Given the description of an element on the screen output the (x, y) to click on. 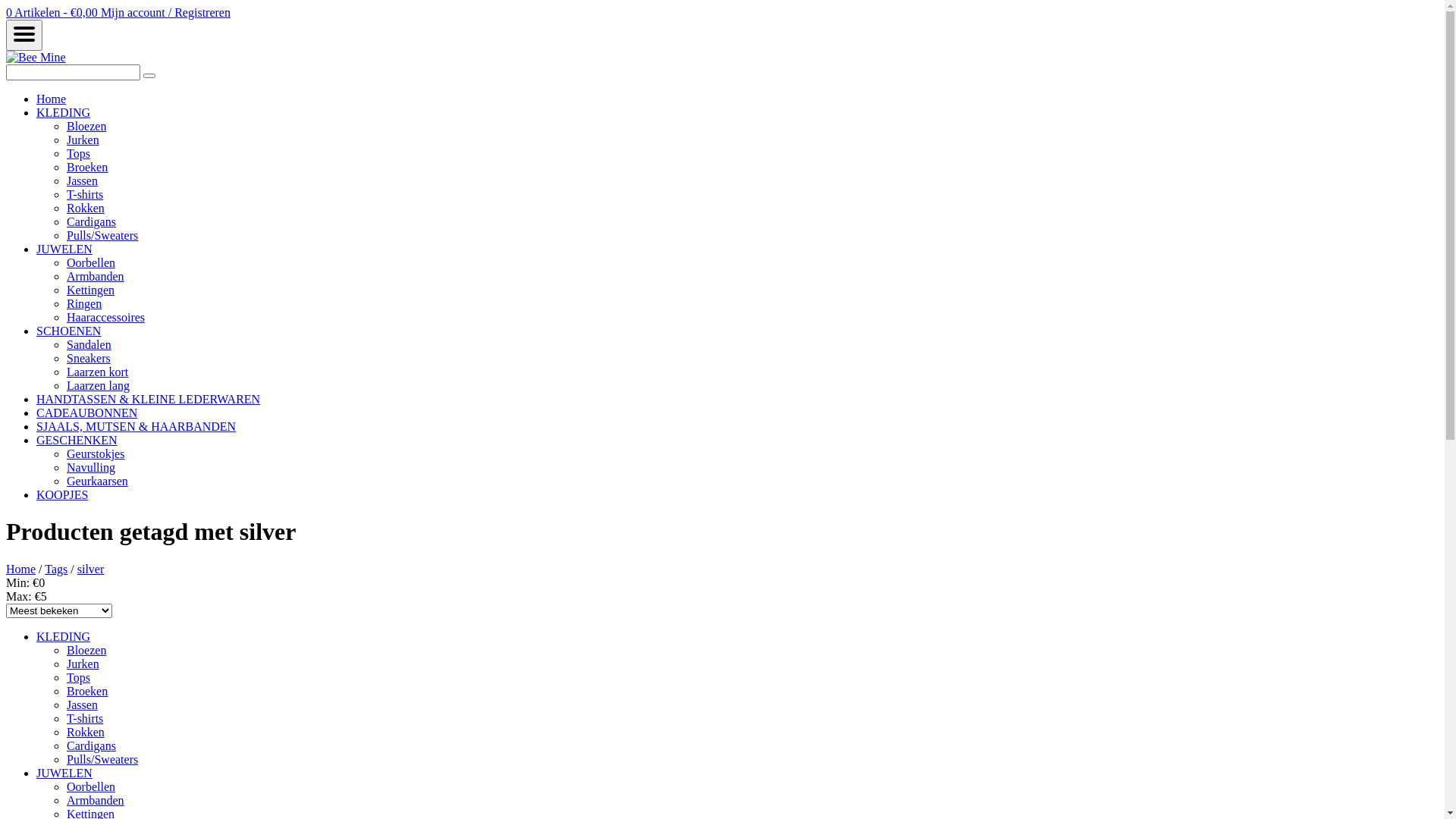
Navulling Element type: text (90, 467)
KLEDING Element type: text (63, 112)
KOOPJES Element type: text (61, 494)
Sandalen Element type: text (88, 344)
Sneakers Element type: text (88, 357)
JUWELEN Element type: text (64, 248)
Cardigans Element type: text (91, 221)
KLEDING Element type: text (63, 636)
Ringen Element type: text (83, 303)
T-shirts Element type: text (84, 194)
Laarzen lang Element type: text (97, 385)
Cardigans Element type: text (91, 745)
Tops Element type: text (78, 153)
Rokken Element type: text (85, 207)
Jassen Element type: text (81, 704)
Oorbellen Element type: text (90, 262)
Home Element type: text (50, 98)
Rokken Element type: text (85, 731)
Armbanden Element type: text (95, 799)
Laarzen kort Element type: text (97, 371)
Jurken Element type: text (82, 663)
JUWELEN Element type: text (64, 772)
Geurstokjes Element type: text (95, 453)
Jassen Element type: text (81, 180)
Kettingen Element type: text (90, 289)
Oorbellen Element type: text (90, 786)
Bloezen Element type: text (86, 125)
Broeken Element type: text (86, 166)
Home Element type: text (20, 568)
T-shirts Element type: text (84, 718)
Zoeken Element type: hover (149, 75)
CADEAUBONNEN Element type: text (86, 412)
Pulls/Sweaters Element type: text (102, 235)
silver Element type: text (90, 568)
Jurken Element type: text (82, 139)
GESCHENKEN Element type: text (76, 439)
Haaraccessoires Element type: text (105, 316)
SJAALS, MUTSEN & HAARBANDEN Element type: text (135, 426)
HANDTASSEN & KLEINE LEDERWAREN Element type: text (148, 398)
Bee Mine Element type: hover (35, 56)
SCHOENEN Element type: text (68, 330)
Armbanden Element type: text (95, 275)
Pulls/Sweaters Element type: text (102, 759)
Tops Element type: text (78, 677)
Tags Element type: text (55, 568)
Mijn account / Registreren Element type: text (165, 12)
Geurkaarsen Element type: text (97, 480)
Broeken Element type: text (86, 690)
Bloezen Element type: text (86, 649)
